Given the description of an element on the screen output the (x, y) to click on. 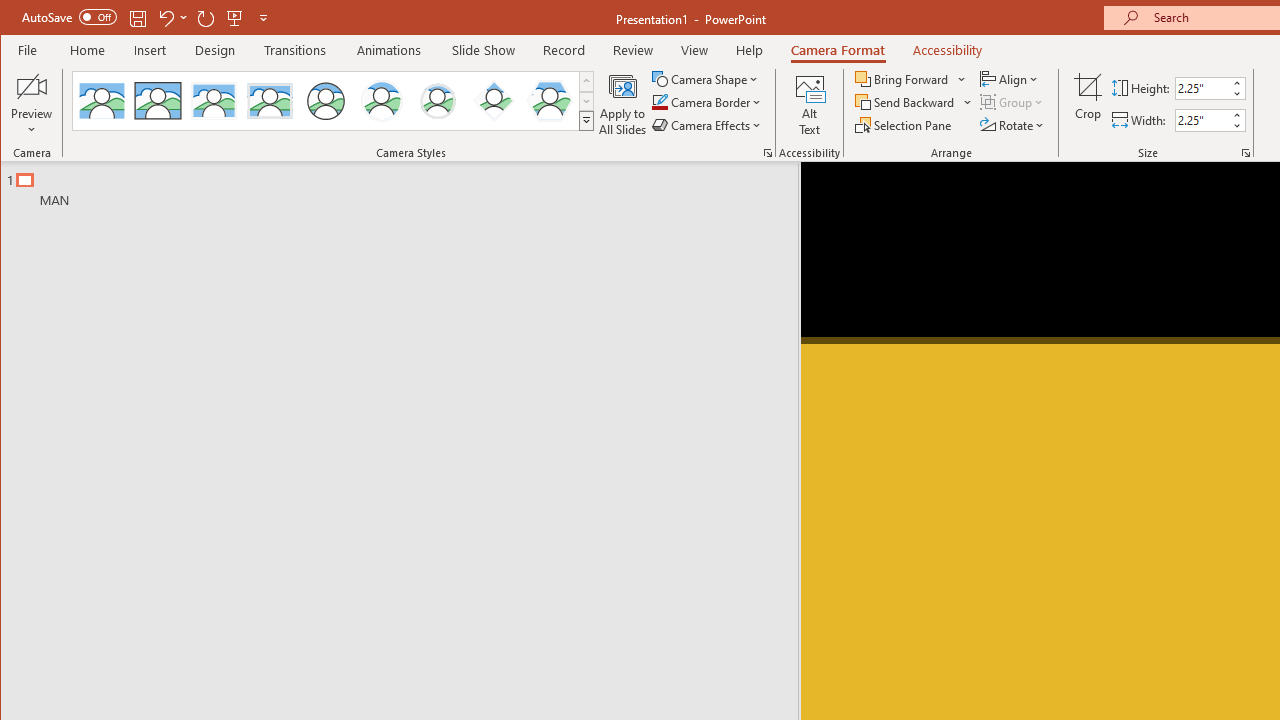
Soft Edge Rectangle (269, 100)
Crop (1087, 104)
Size and Position... (1245, 152)
Cameo Width (1201, 120)
Bring Forward (911, 78)
Apply to All Slides (622, 104)
Outline (408, 185)
